Given the description of an element on the screen output the (x, y) to click on. 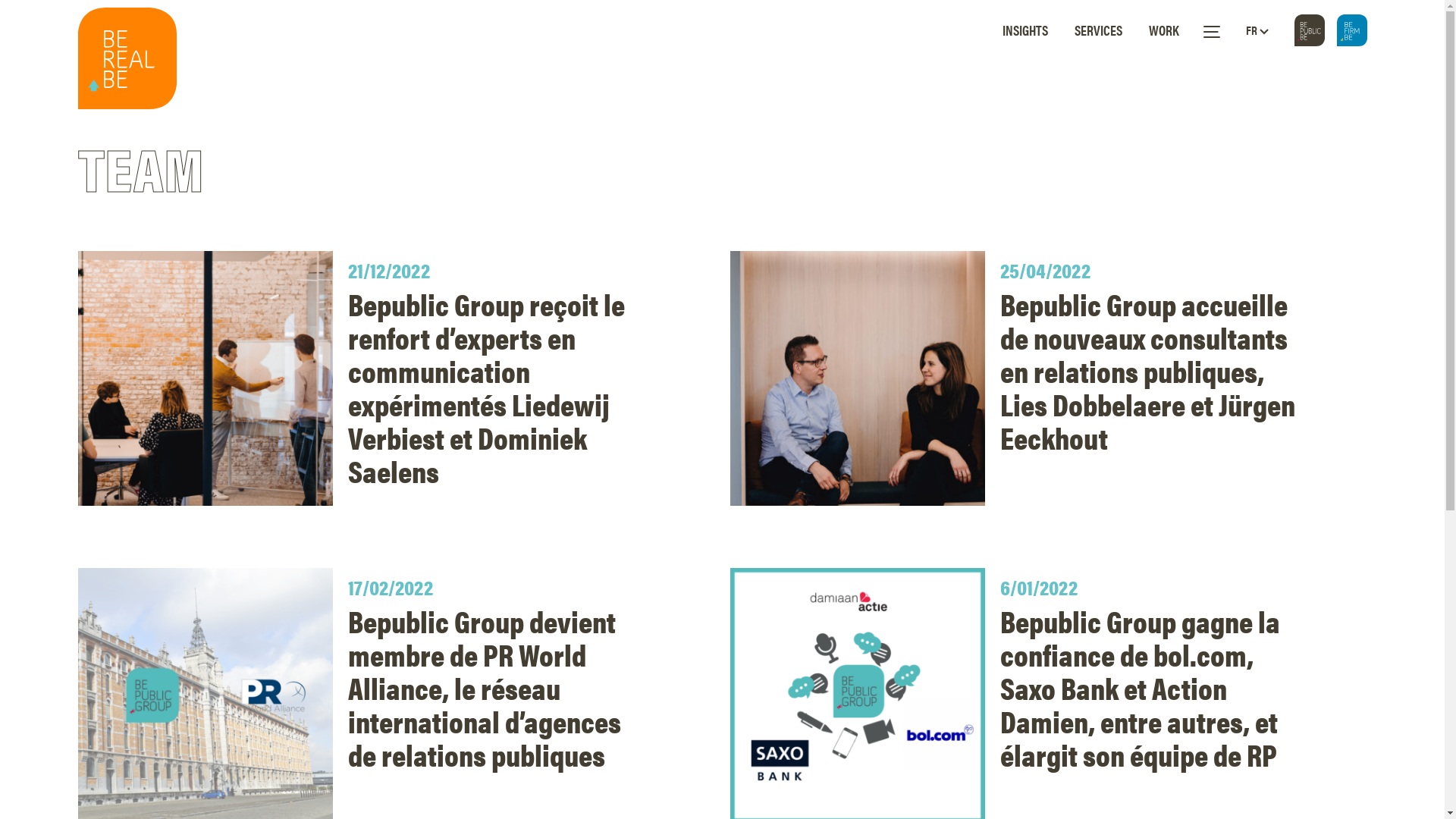
FR Element type: text (1256, 29)
WORK Element type: text (1163, 29)
INSIGHTS Element type: text (1025, 29)
SERVICES Element type: text (1097, 29)
